Given the description of an element on the screen output the (x, y) to click on. 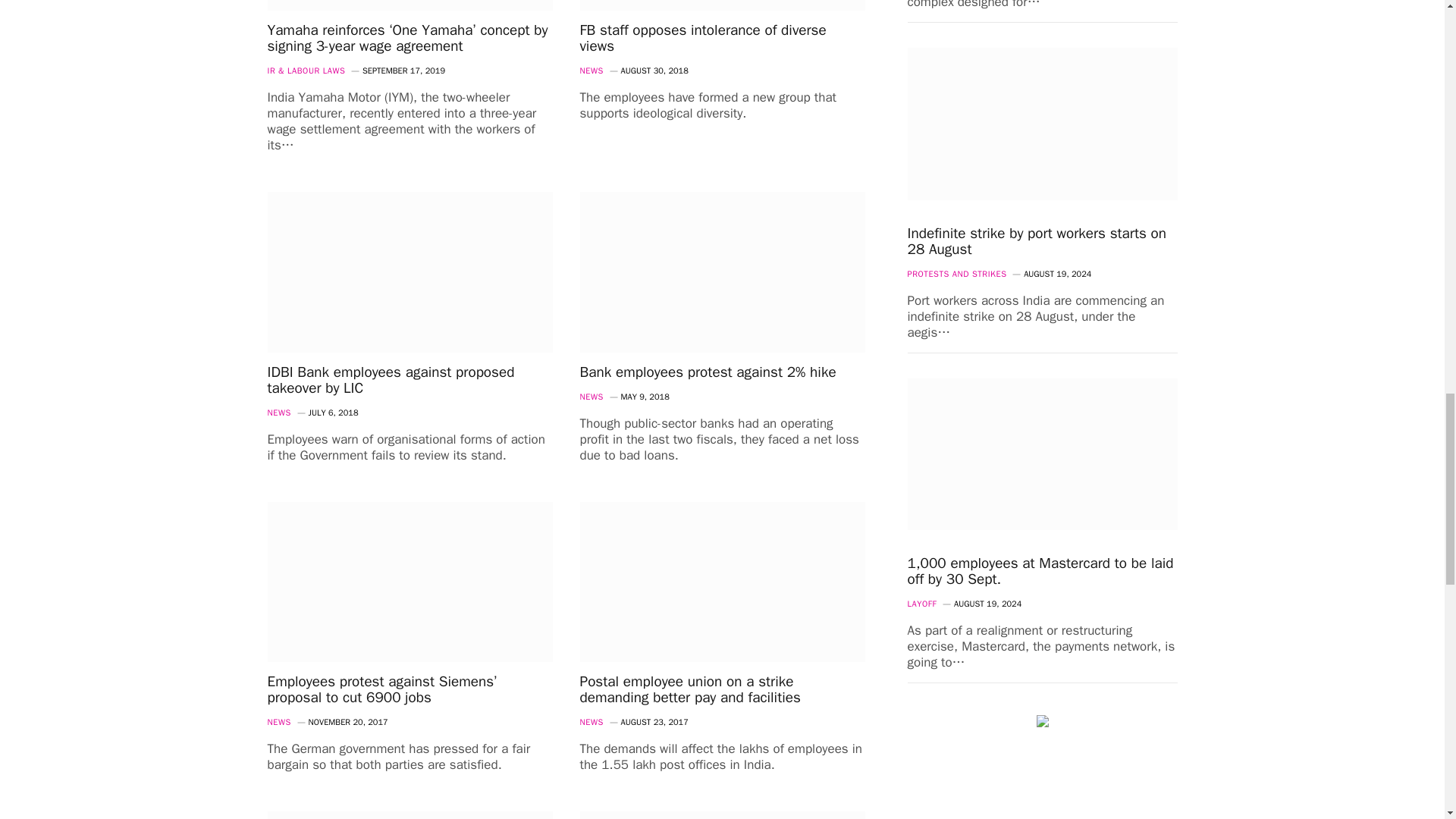
IDBI Bank employees against proposed takeover by LIC (408, 271)
FB staff opposes intolerance of diverse views (721, 5)
